Given the description of an element on the screen output the (x, y) to click on. 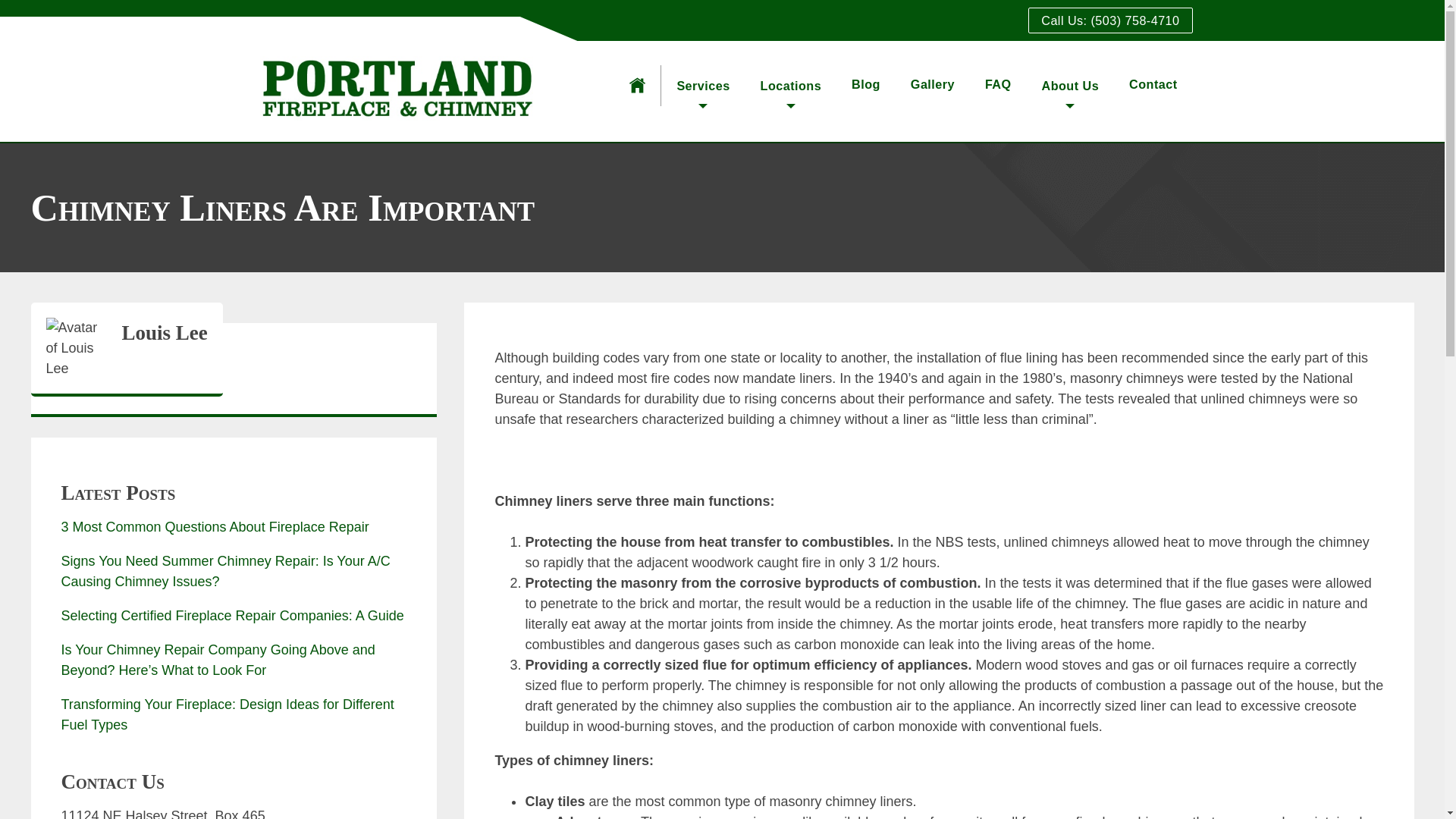
Locations (791, 91)
Services (703, 91)
Gallery (933, 83)
Contact (1152, 83)
FAQ (998, 83)
Blog (865, 83)
About Us (1070, 91)
